Given the description of an element on the screen output the (x, y) to click on. 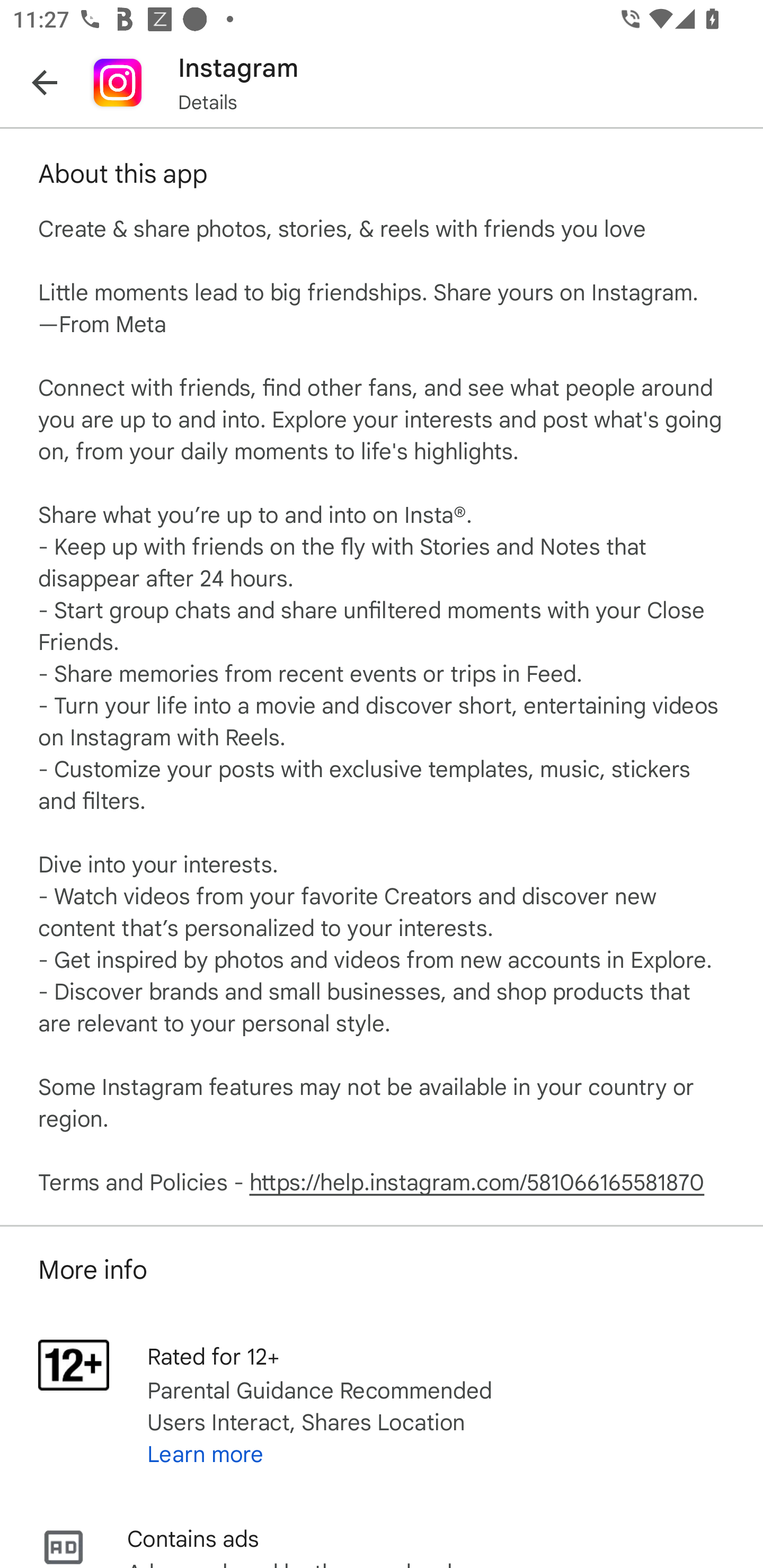
Navigate up (44, 82)
